Given the description of an element on the screen output the (x, y) to click on. 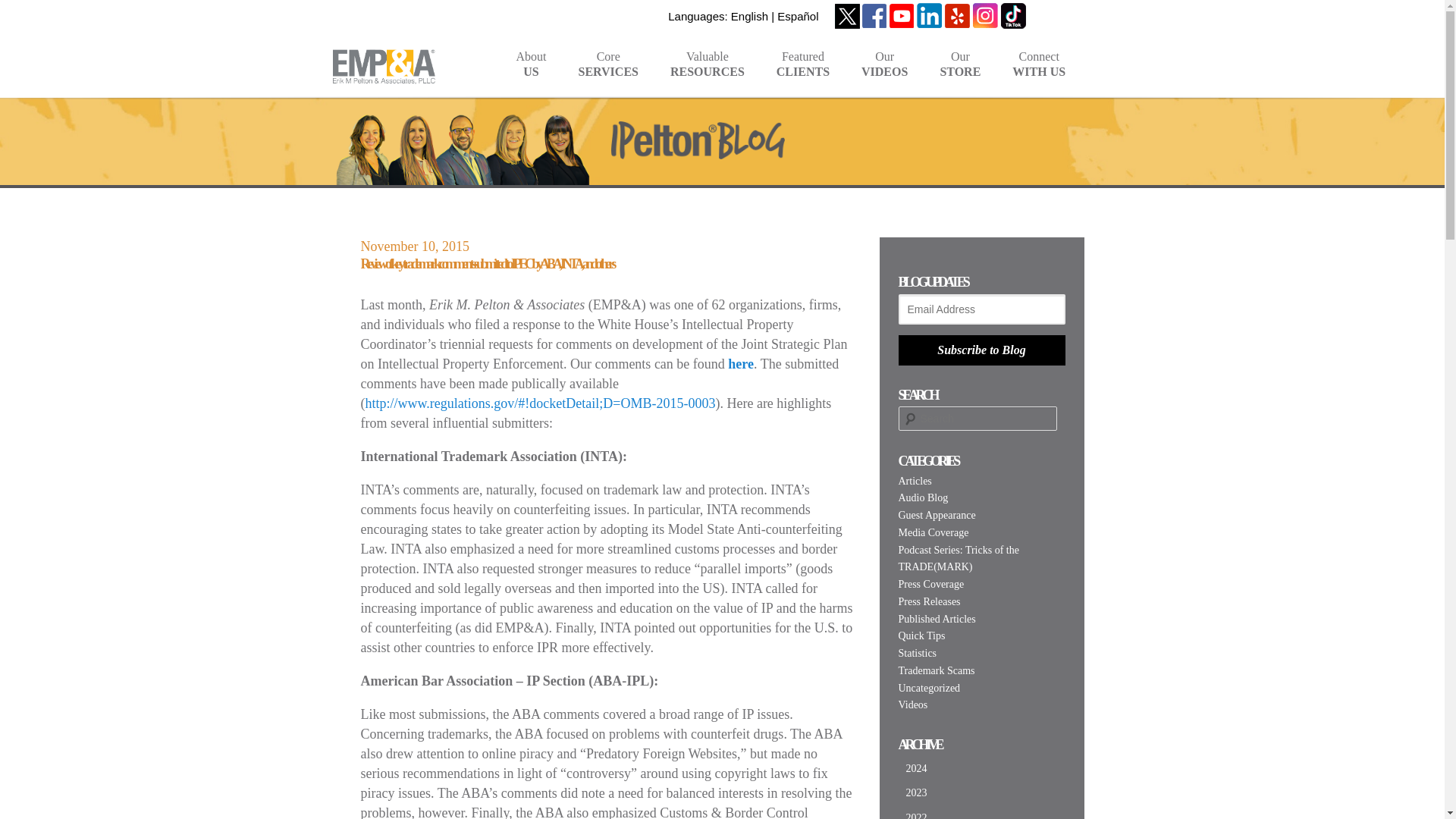
English (531, 73)
8:00 am (706, 73)
